Given the description of an element on the screen output the (x, y) to click on. 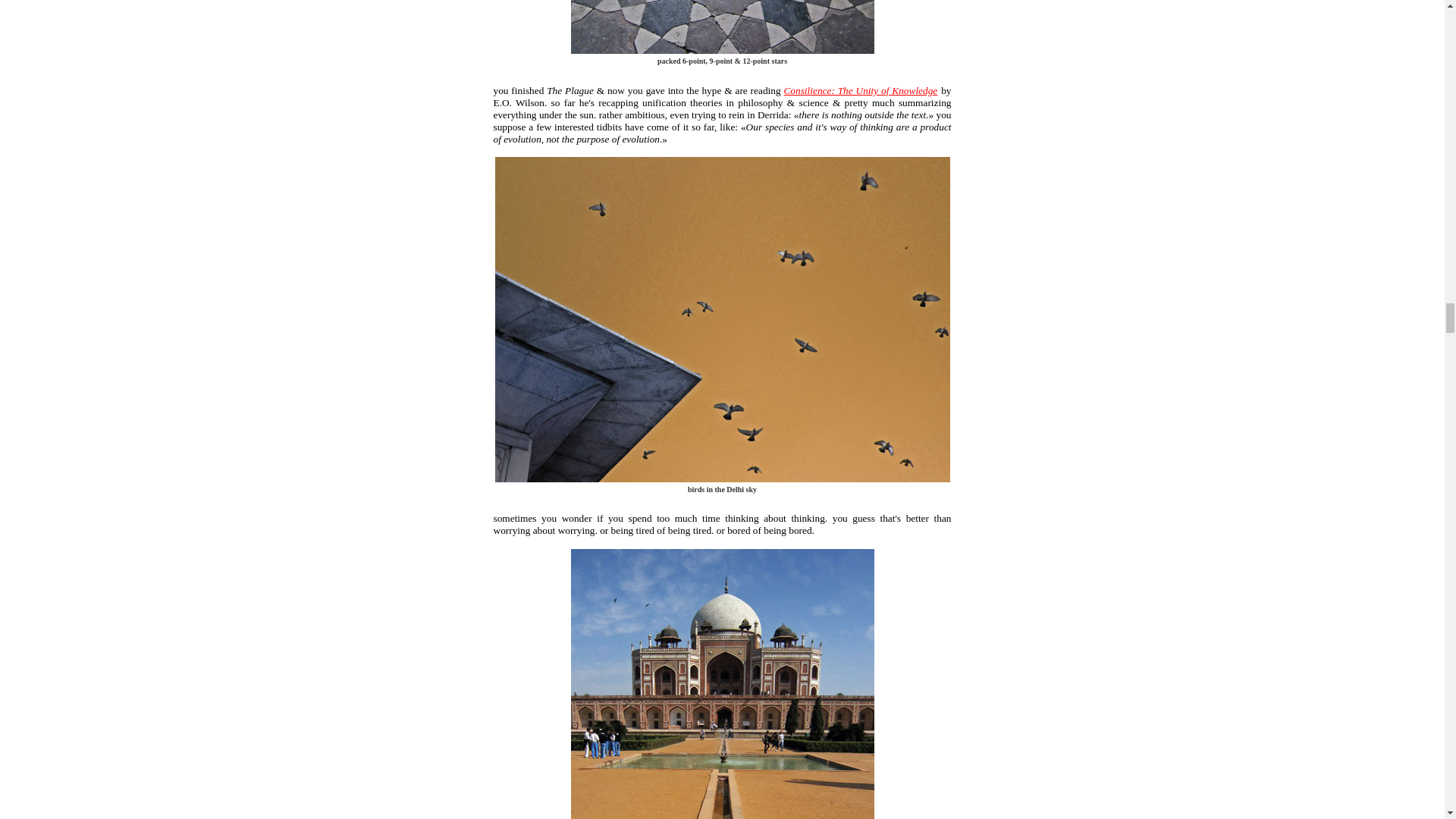
Consilience: The Unity of Knowledge (860, 90)
